Given the description of an element on the screen output the (x, y) to click on. 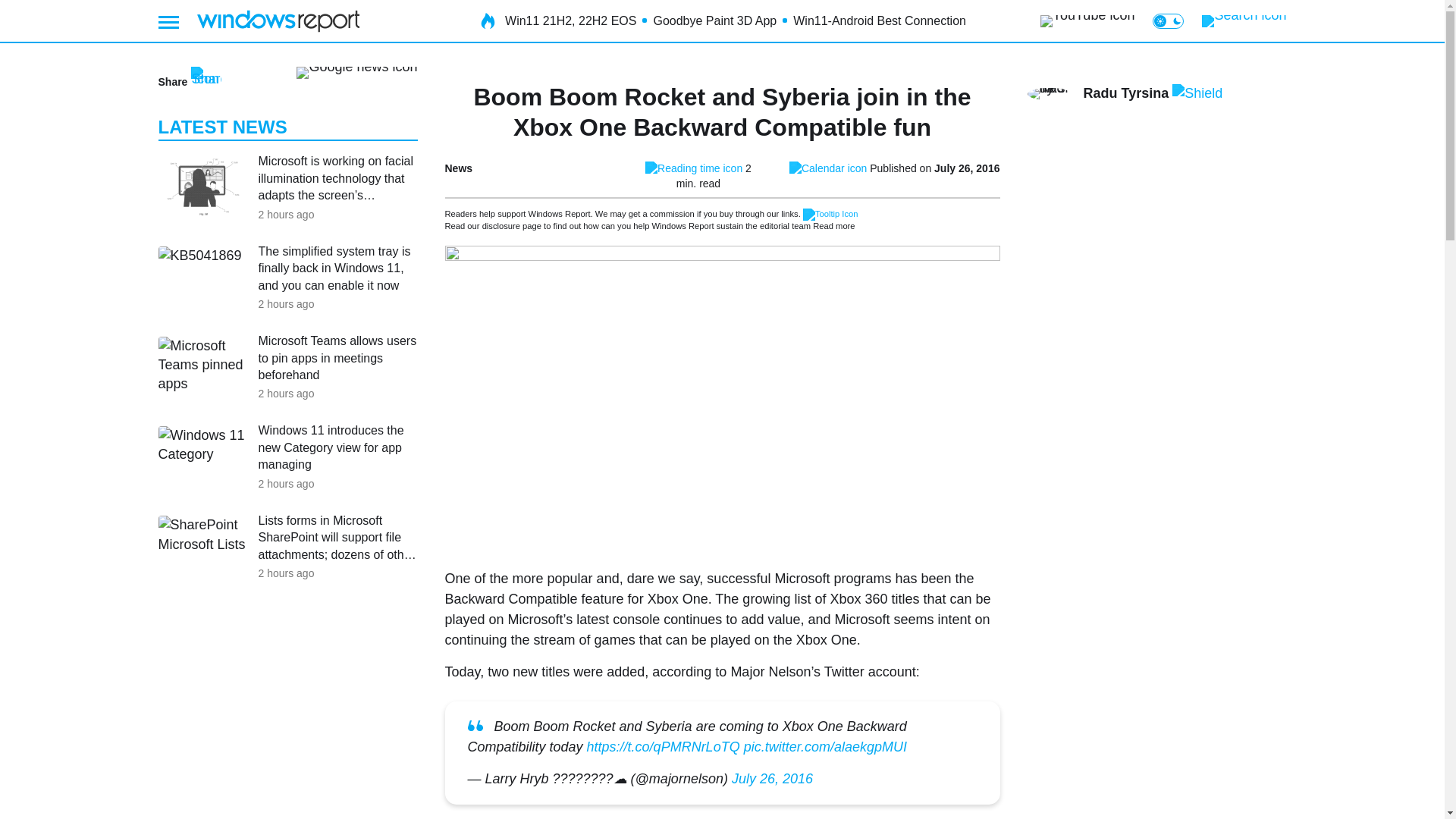
Win11 21H2, 22H2 EOS (570, 21)
Open search bar (1243, 21)
Share (189, 81)
News (457, 168)
Win11-Android Best Connection (879, 21)
